Given the description of an element on the screen output the (x, y) to click on. 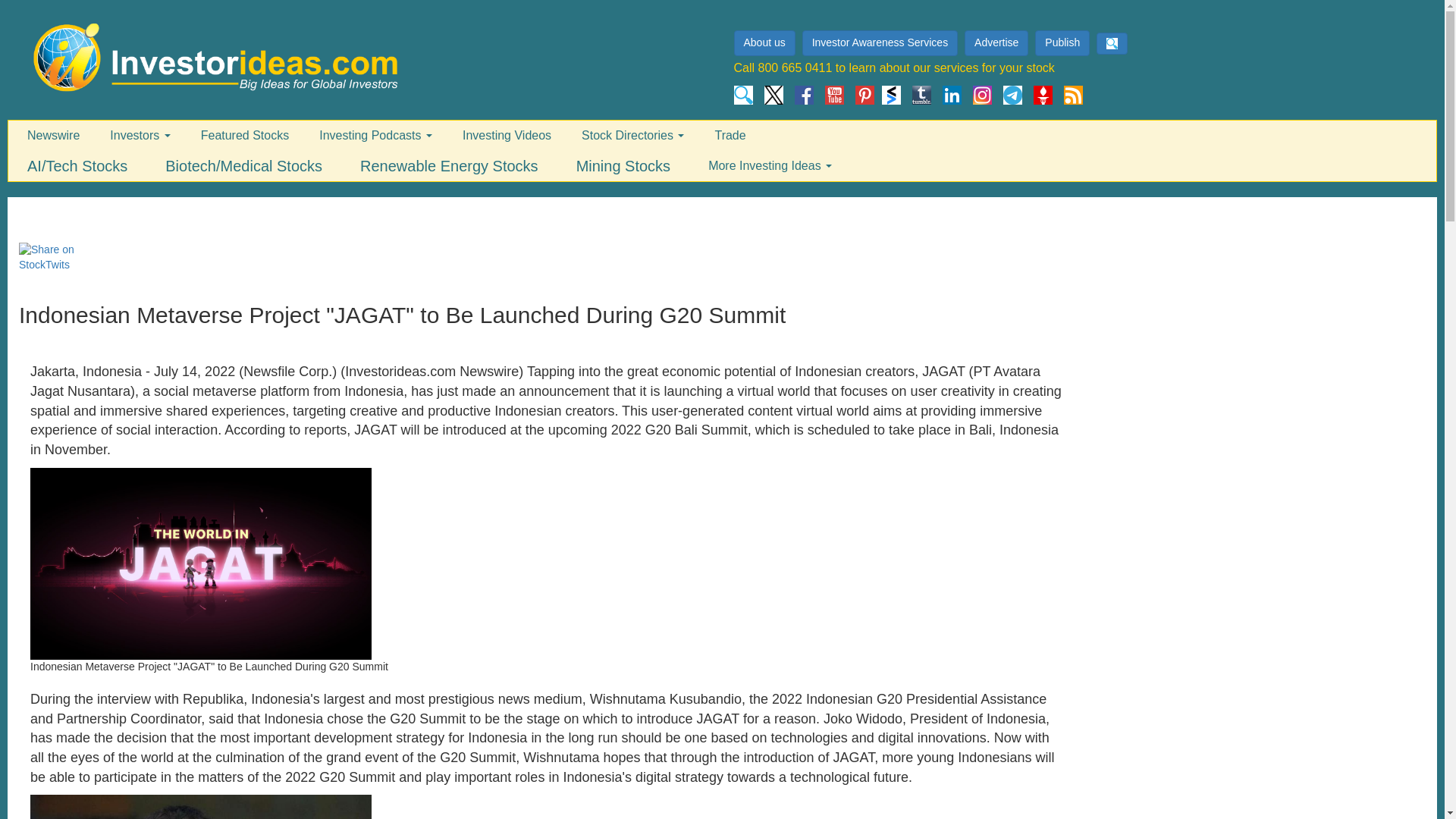
Investing Videos (506, 135)
Investor Awareness Services (880, 43)
About us (766, 43)
Newswire (53, 135)
Investors (139, 135)
About us (763, 43)
Publish (1064, 43)
Featured Stocks (245, 135)
Advertise (995, 43)
Publish (1062, 43)
Investing Podcasts (375, 135)
Stock Directories (632, 135)
Advertise (997, 43)
Investor Awareness Services (882, 43)
